Given the description of an element on the screen output the (x, y) to click on. 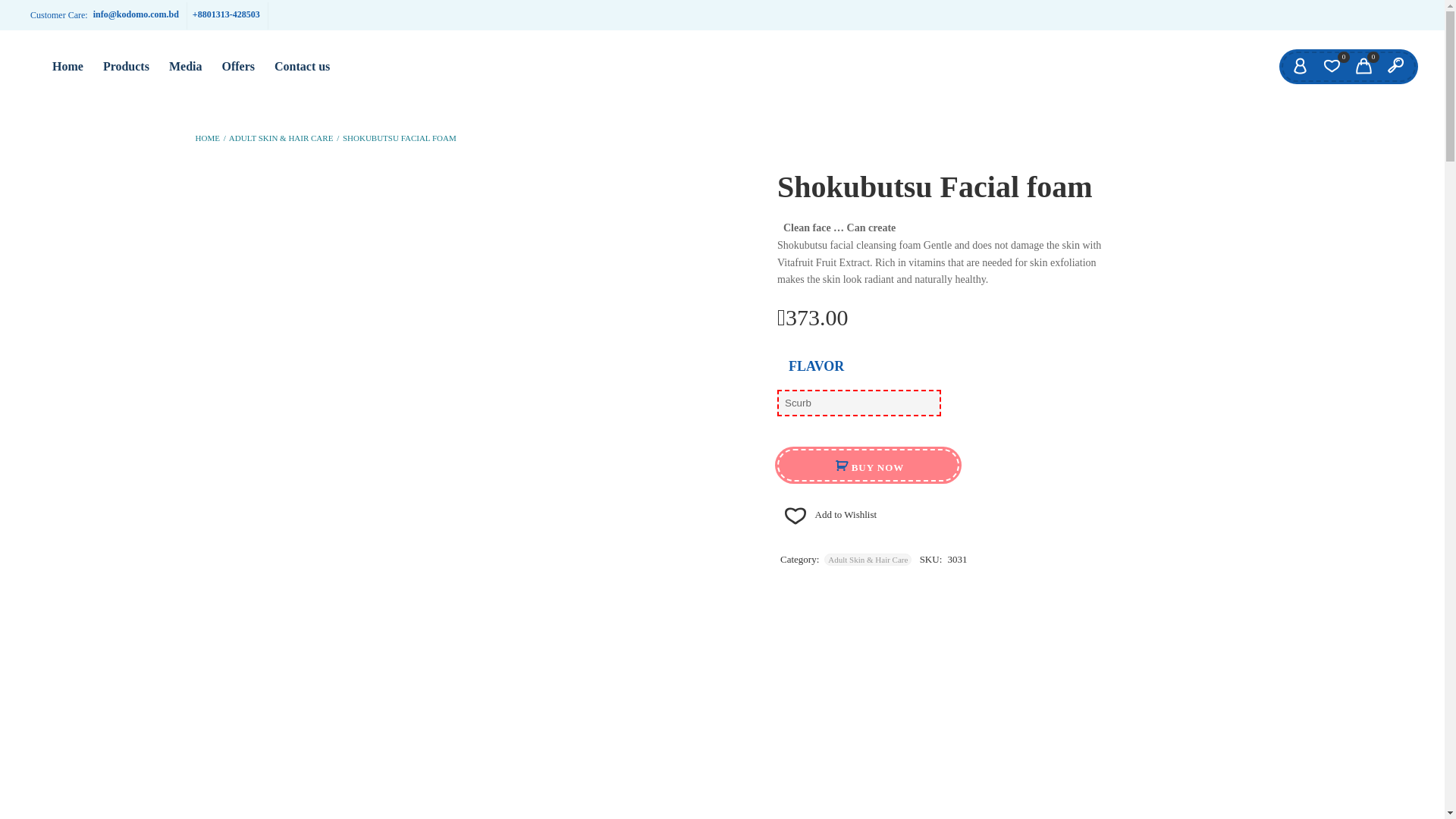
My Account Element type: hover (1299, 66)
HOME Element type: text (207, 137)
+8801313-428503 Element type: text (226, 14)
Kodomo Bangladesh Element type: hover (30, 55)
Register Element type: text (621, 429)
info@kodomo.com.bd Element type: text (135, 14)
Products Element type: text (126, 66)
Home Element type: text (67, 66)
Adult Skin & Hair Care Element type: text (867, 559)
Media Element type: text (185, 66)
0 Element type: text (1363, 66)
Offers Element type: text (237, 66)
ADULT SKIN & HAIR CARE Element type: text (281, 137)
Add to Wishlist Element type: text (826, 514)
BUY NOW Element type: text (868, 464)
Search Element type: hover (1395, 66)
Search Products Element type: text (15, 13)
Contact us Element type: text (301, 66)
0 Element type: text (1331, 66)
